Given the description of an element on the screen output the (x, y) to click on. 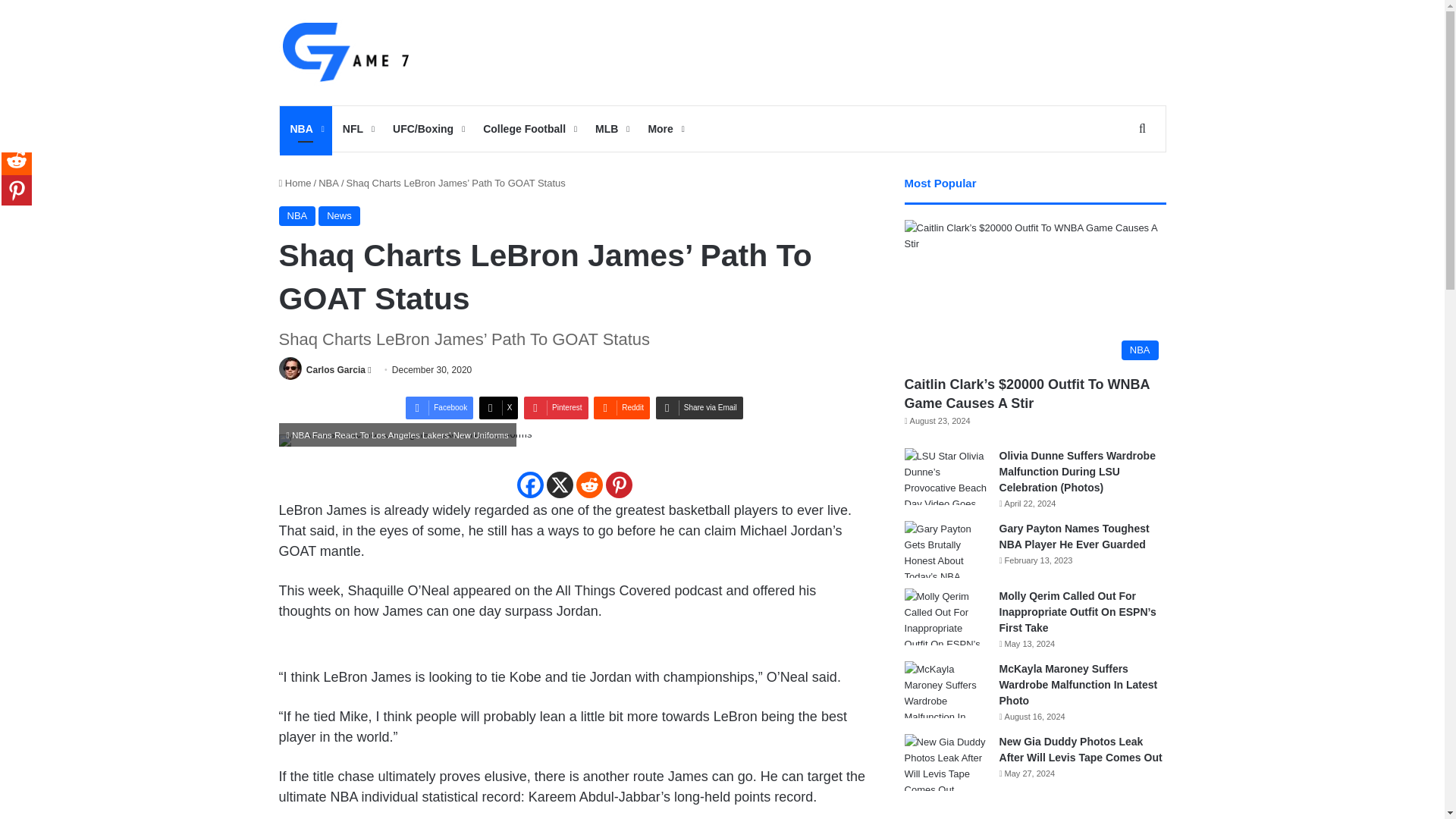
Reddit (621, 407)
Pinterest (556, 407)
NBA (305, 128)
NFL (356, 128)
Facebook (529, 484)
Share via Email (699, 407)
Pinterest (618, 484)
More (664, 128)
X (498, 407)
